Given the description of an element on the screen output the (x, y) to click on. 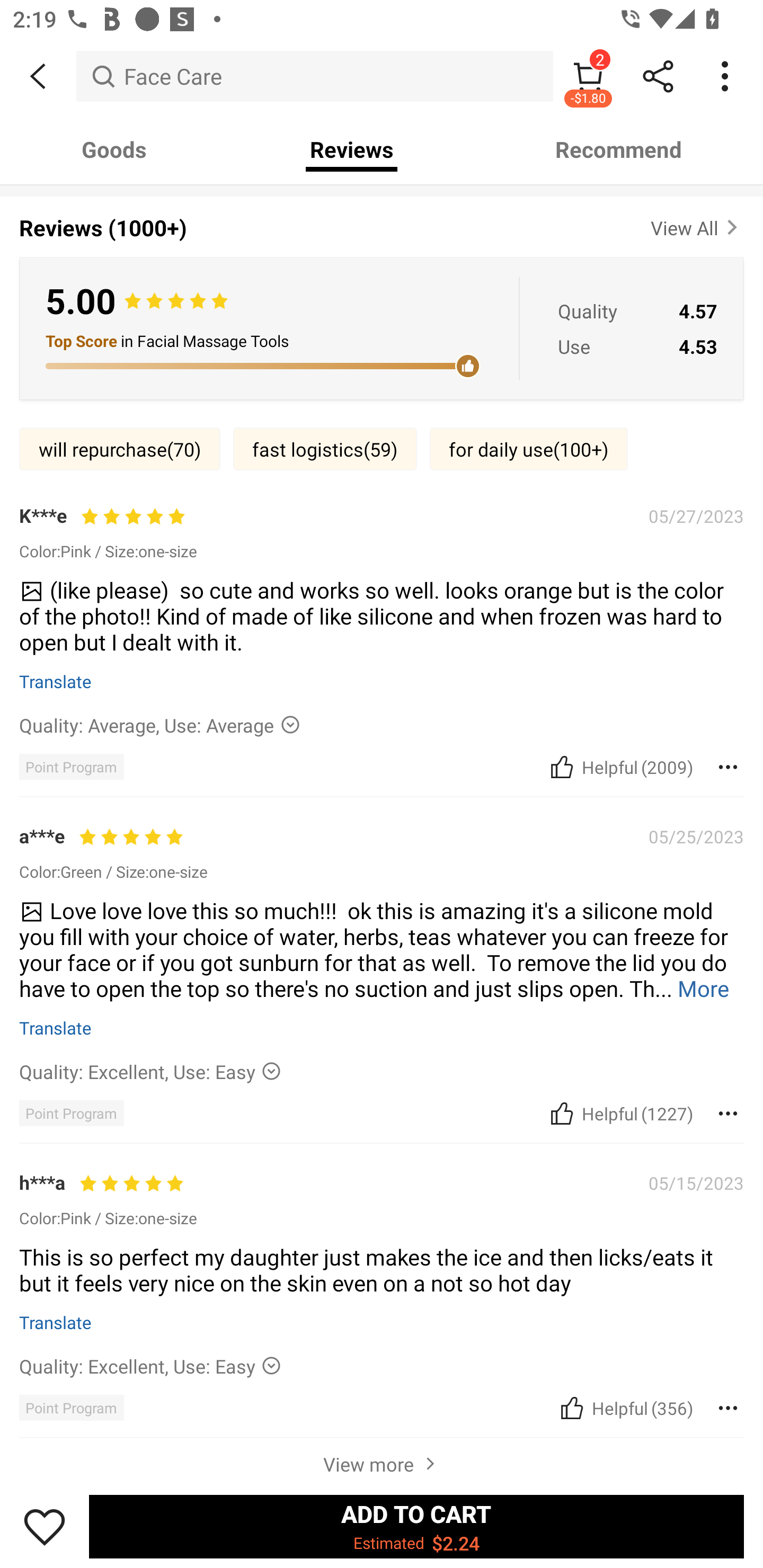
BACK (38, 75)
2 -$1.80 (588, 75)
Face Care (314, 75)
Goods (114, 149)
Reviews (351, 149)
Recommend (618, 149)
will repurchase(70) (119, 449)
fast logistics(59) (325, 449)
for daily use(100‎+) (528, 449)
Translate (55, 681)
Cancel Helpful Was this article helpful? (2009) (619, 766)
Point Program (71, 766)
Translate (55, 1027)
Cancel Helpful Was this article helpful? (1227) (619, 1113)
Point Program (71, 1112)
Translate (55, 1322)
Cancel Helpful Was this article helpful? (356) (624, 1407)
Point Program (71, 1407)
View more (381, 1460)
ADD TO CART Estimated   $2.24 (416, 1526)
Save (44, 1526)
